Given the description of an element on the screen output the (x, y) to click on. 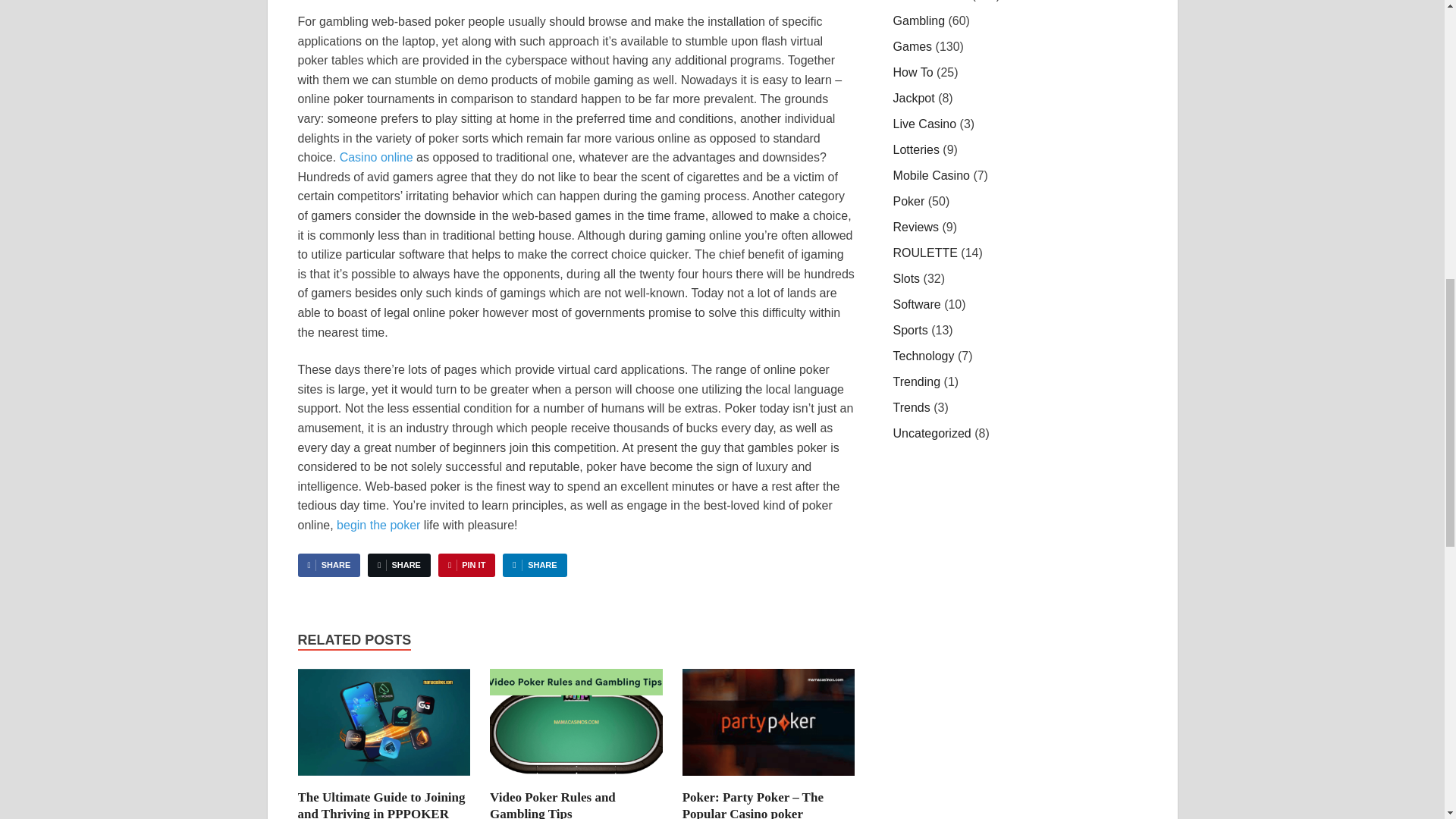
The Ultimate Guide to Joining and Thriving in PPPOKER Clubs (383, 779)
Video Poker Rules and Gambling Tips (552, 804)
Video Poker Rules and Gambling Tips (575, 779)
The Ultimate Guide to Joining and Thriving in PPPOKER Clubs (380, 804)
